Given the description of an element on the screen output the (x, y) to click on. 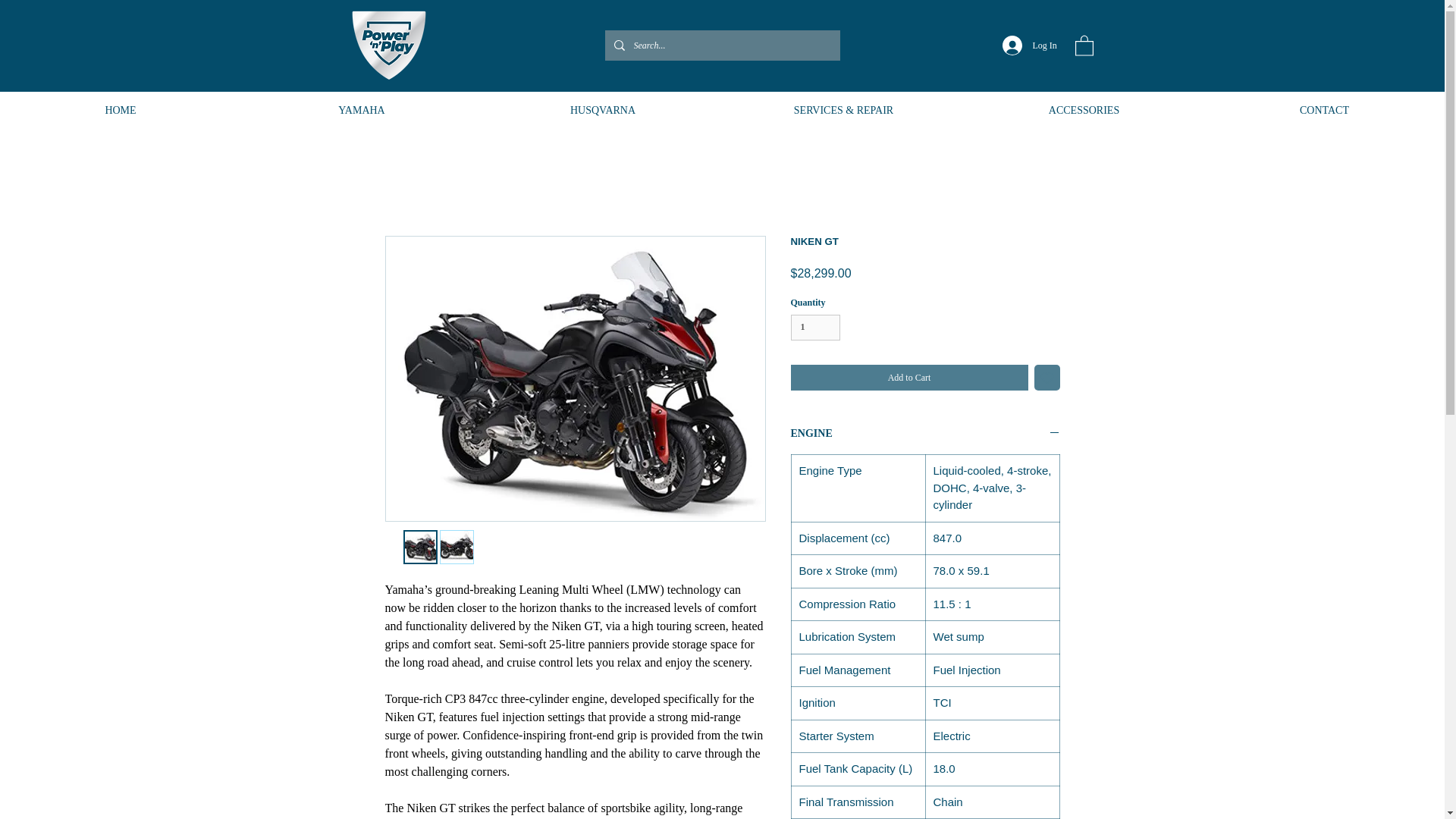
YAMAHA (361, 110)
Log In (1024, 45)
HUSQVARNA (602, 110)
1 (815, 326)
HOME (120, 110)
